Given the description of an element on the screen output the (x, y) to click on. 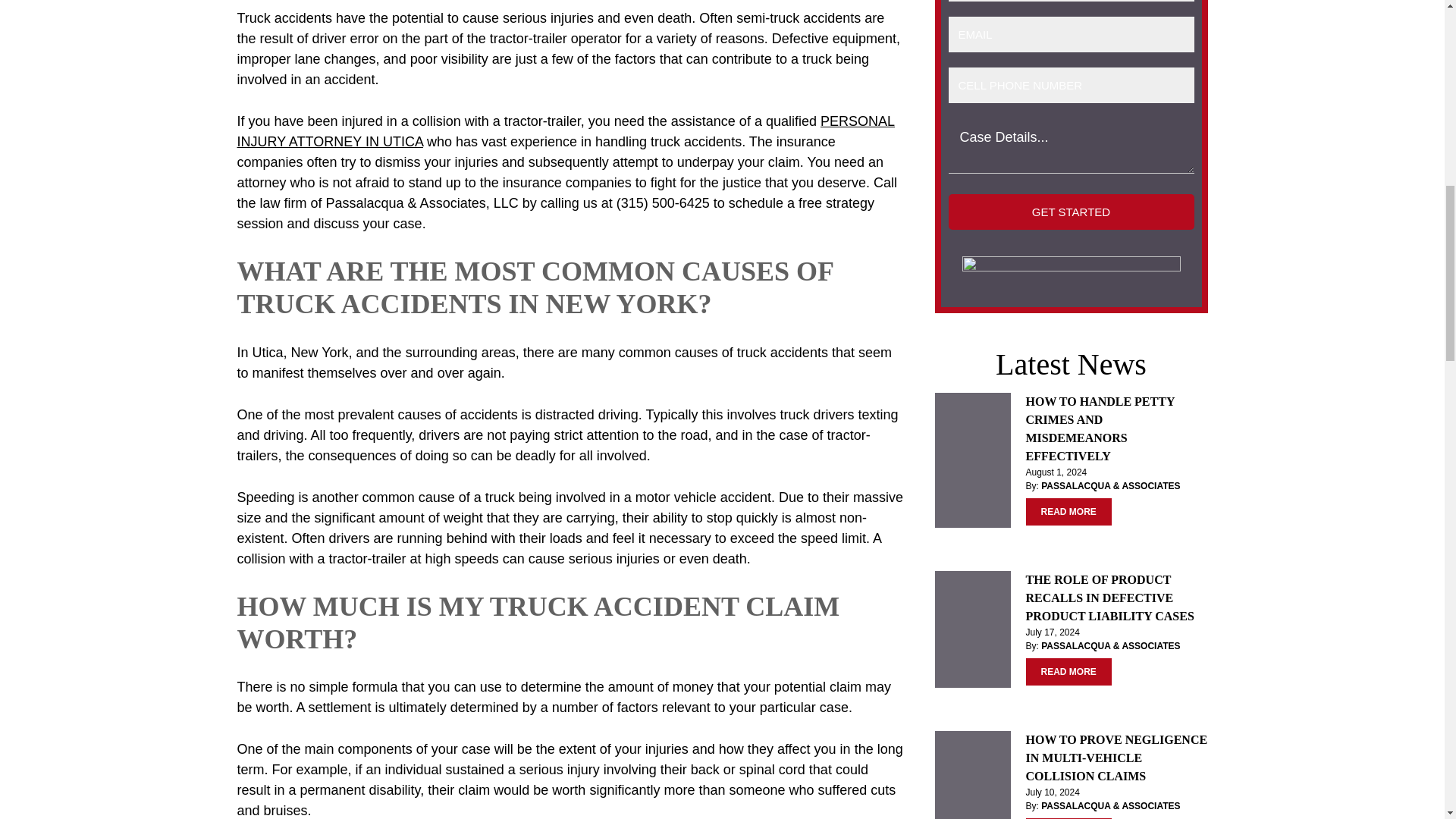
GET STARTED (1070, 212)
